Given the description of an element on the screen output the (x, y) to click on. 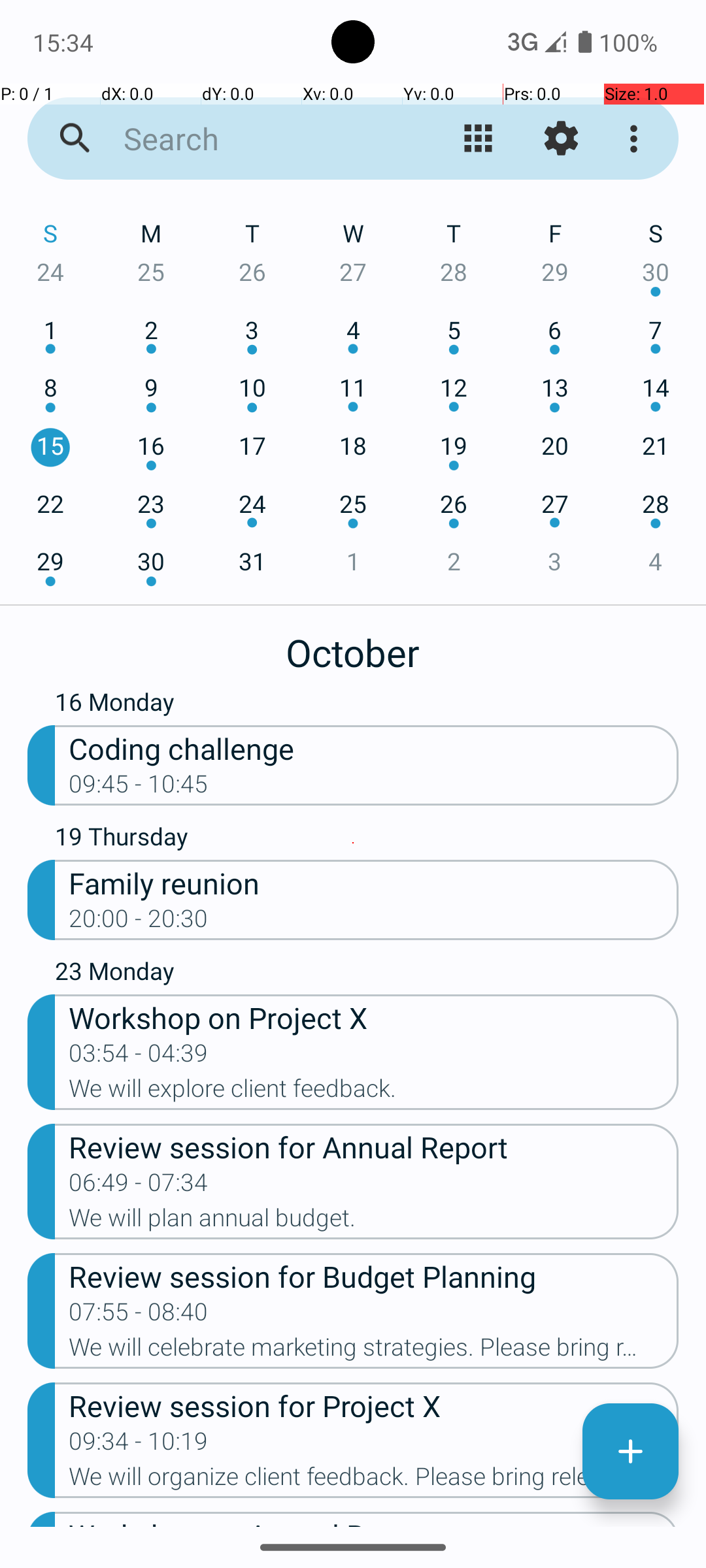
16 Monday Element type: android.widget.TextView (366, 704)
19 Thursday Element type: android.widget.TextView (366, 839)
23 Monday Element type: android.widget.TextView (366, 973)
Coding challenge Element type: android.widget.TextView (373, 747)
09:45 - 10:45 Element type: android.widget.TextView (137, 787)
Family reunion Element type: android.widget.TextView (373, 881)
20:00 - 20:30 Element type: android.widget.TextView (137, 922)
Workshop on Project X Element type: android.widget.TextView (373, 1016)
03:54 - 04:39 Element type: android.widget.TextView (137, 1056)
We will explore client feedback. Element type: android.widget.TextView (373, 1092)
Review session for Annual Report Element type: android.widget.TextView (373, 1145)
06:49 - 07:34 Element type: android.widget.TextView (137, 1186)
We will plan annual budget. Element type: android.widget.TextView (373, 1221)
Review session for Budget Planning Element type: android.widget.TextView (373, 1275)
07:55 - 08:40 Element type: android.widget.TextView (137, 1315)
We will celebrate marketing strategies. Please bring relevant documents. Element type: android.widget.TextView (373, 1350)
Review session for Project X Element type: android.widget.TextView (373, 1404)
09:34 - 10:19 Element type: android.widget.TextView (137, 1444)
We will organize client feedback. Please bring relevant documents. Element type: android.widget.TextView (373, 1480)
Workshop on Annual Report Element type: android.widget.TextView (373, 1518)
